Given the description of an element on the screen output the (x, y) to click on. 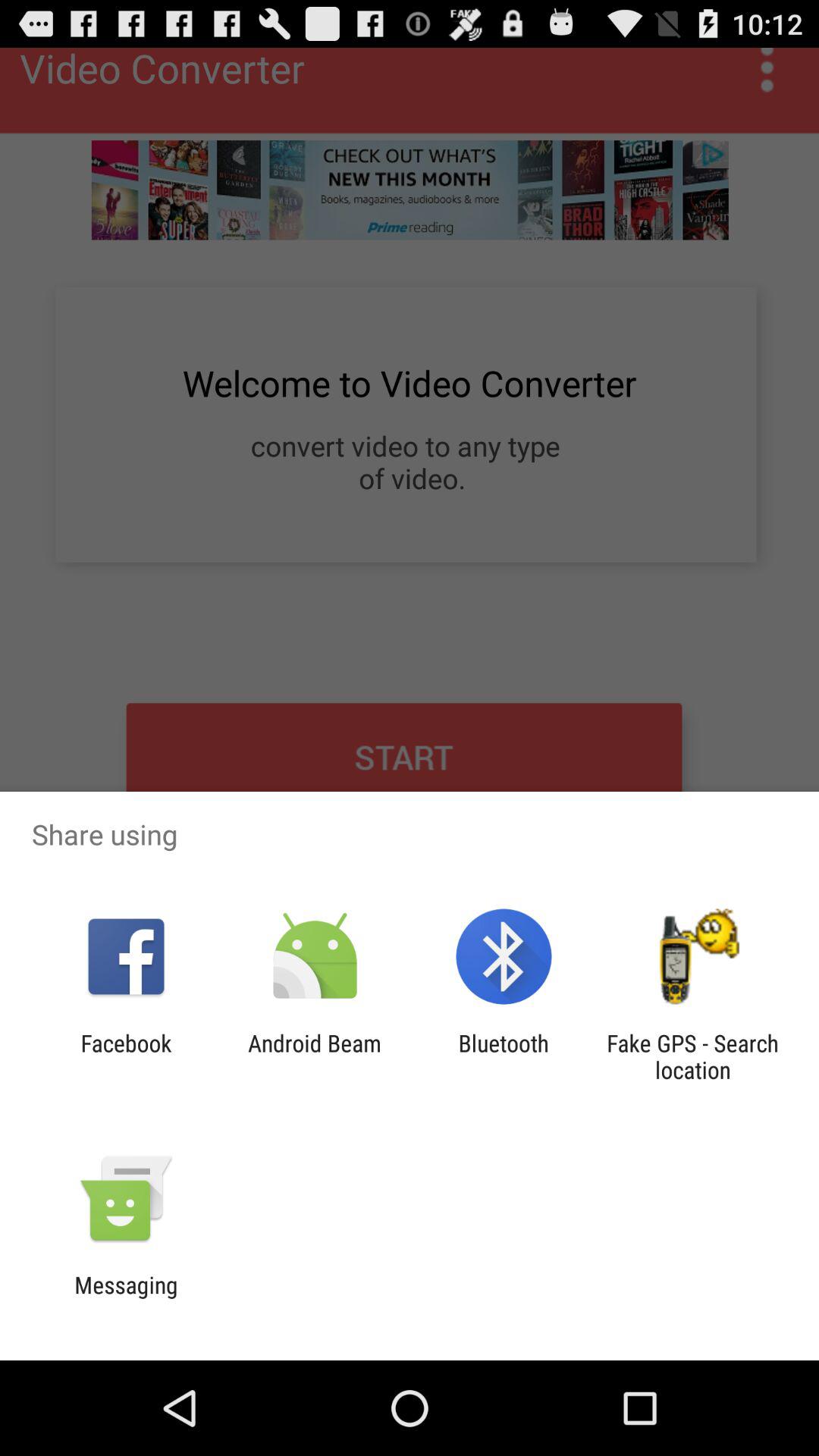
choose the bluetooth item (503, 1056)
